Given the description of an element on the screen output the (x, y) to click on. 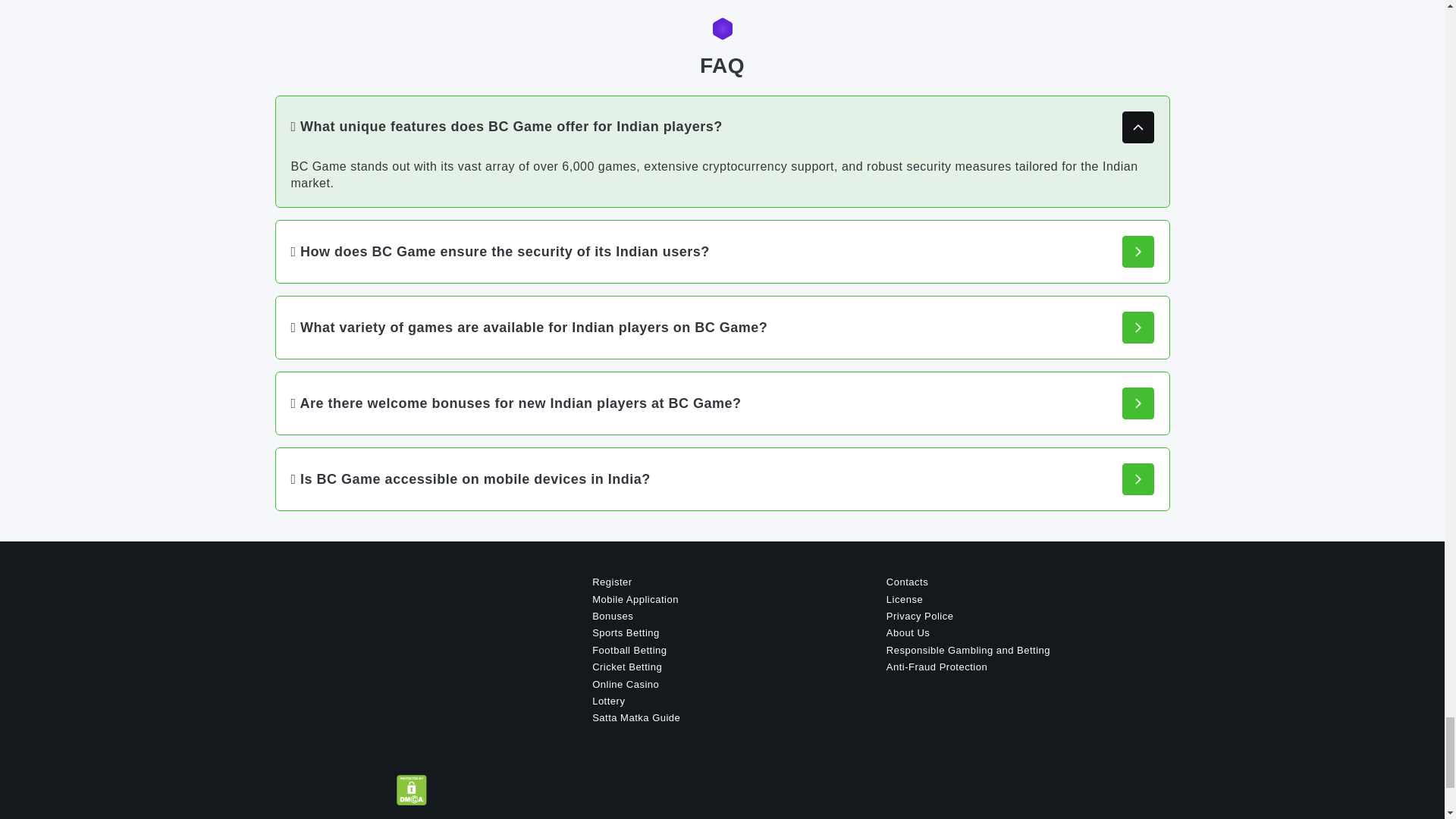
Bonuses (612, 615)
Mobile Application (635, 599)
Register (611, 582)
DMCA.com Protection Status (411, 789)
